Given the description of an element on the screen output the (x, y) to click on. 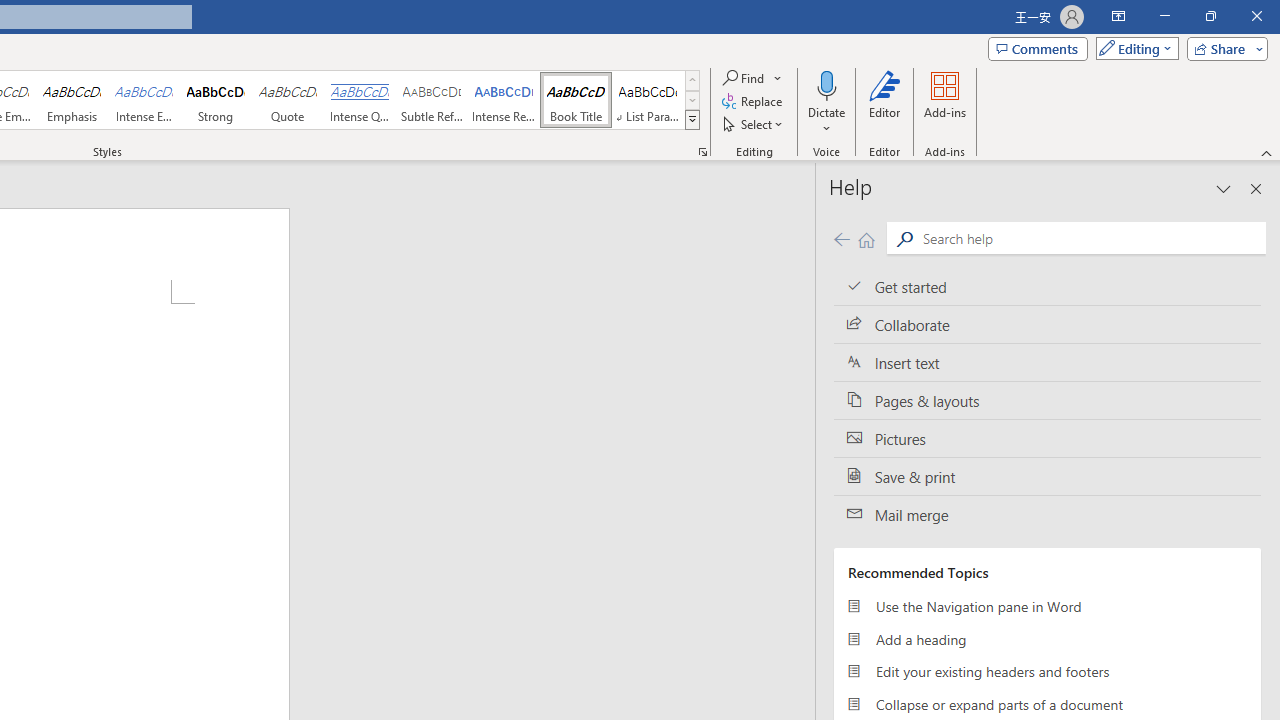
Pictures (1047, 438)
Get started (1047, 286)
Use the Navigation pane in Word (1047, 605)
Save & print (1047, 476)
